Given the description of an element on the screen output the (x, y) to click on. 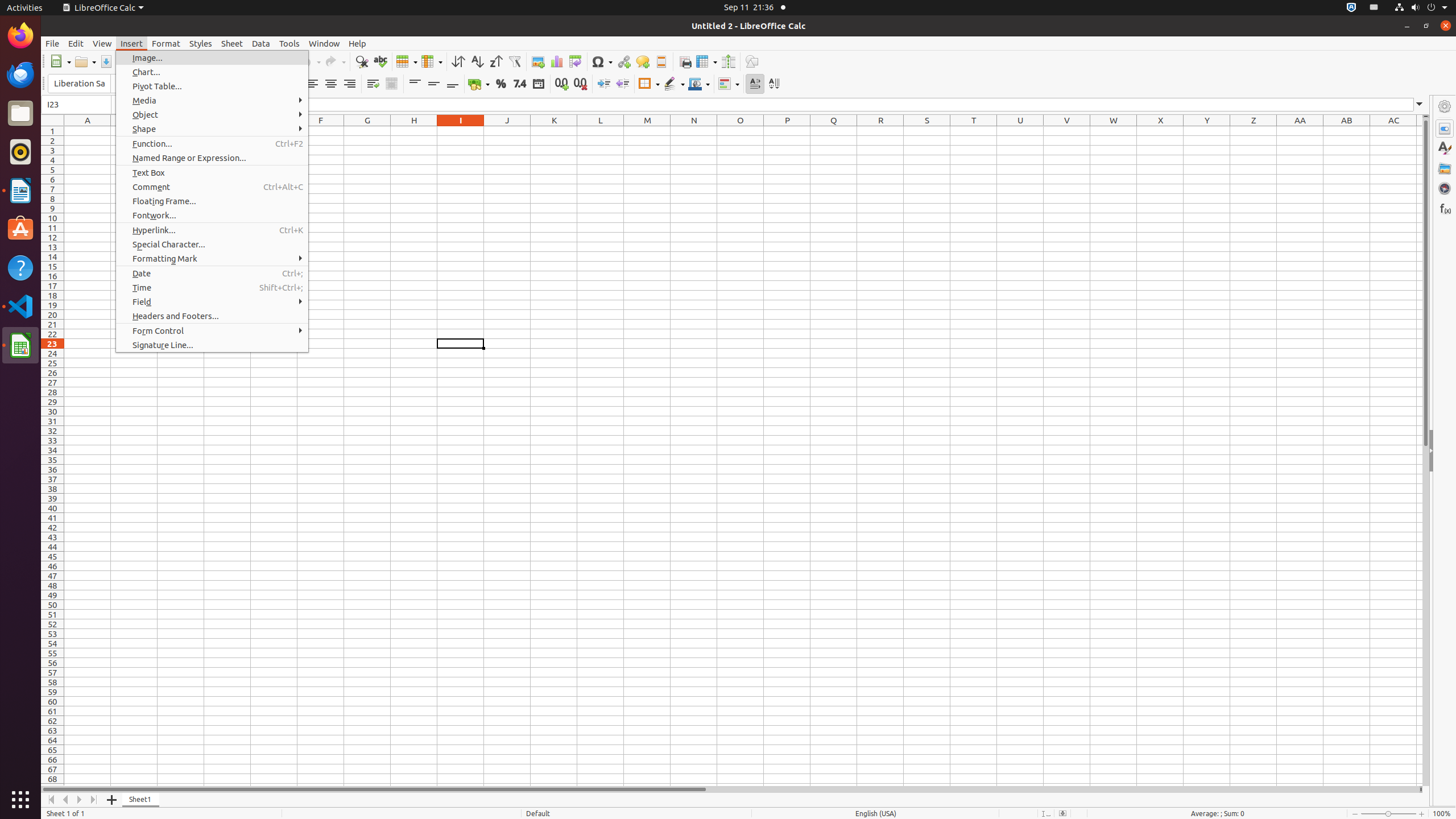
Merge and Center Cells Element type: push-button (391, 83)
Move Right Element type: push-button (79, 799)
Borders (Shift to overwrite) Element type: push-button (648, 83)
